Given the description of an element on the screen output the (x, y) to click on. 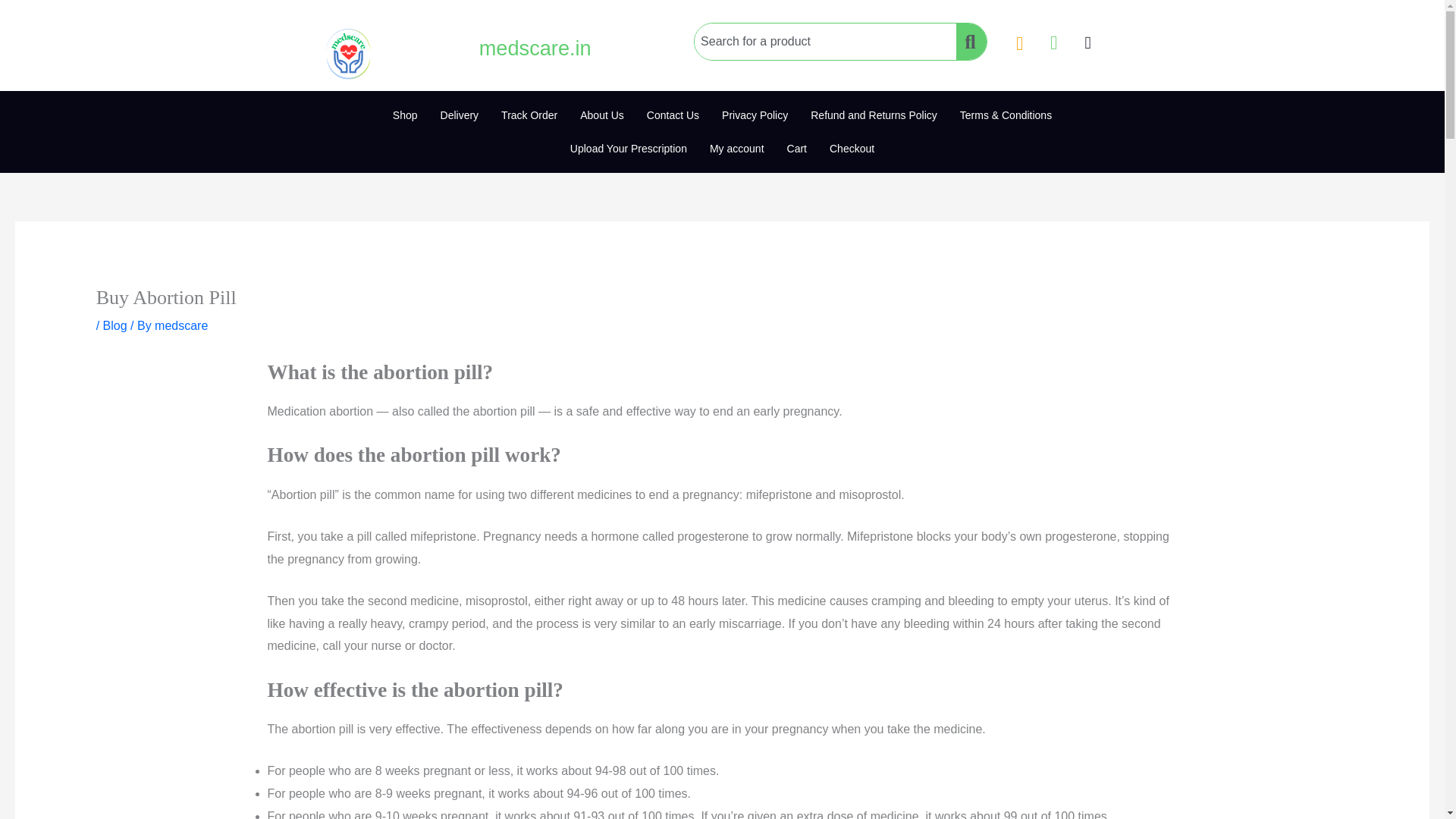
Upload Your Prescription (628, 148)
Privacy Policy (754, 114)
Track Order (529, 114)
Shop (405, 114)
Cart (797, 148)
About Us (601, 114)
Contact Us (672, 114)
Checkout (851, 148)
Refund and Returns Policy (874, 114)
My account (737, 148)
